Given the description of an element on the screen output the (x, y) to click on. 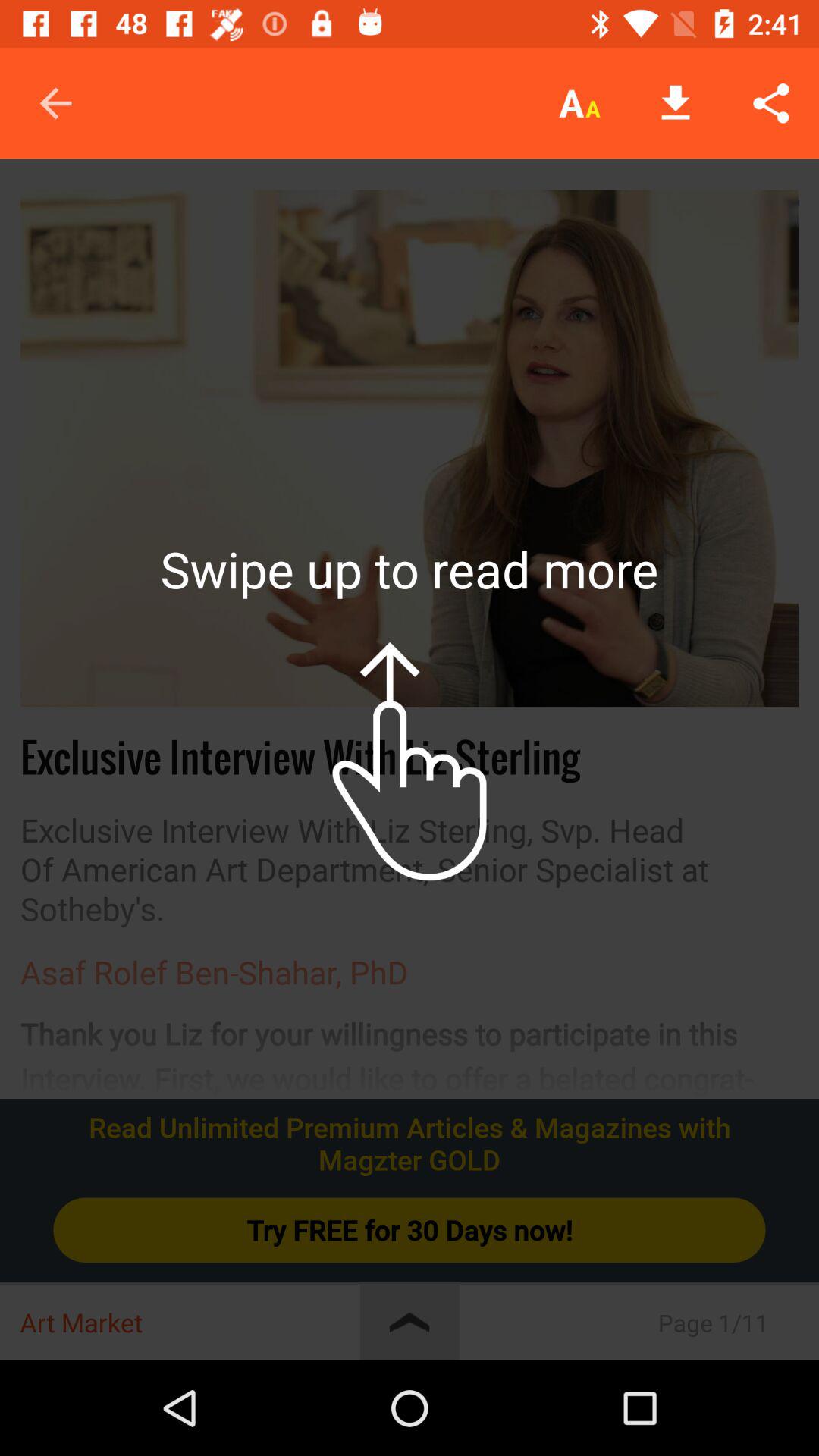
turn off the icon above exclusive interview with (409, 447)
